Given the description of an element on the screen output the (x, y) to click on. 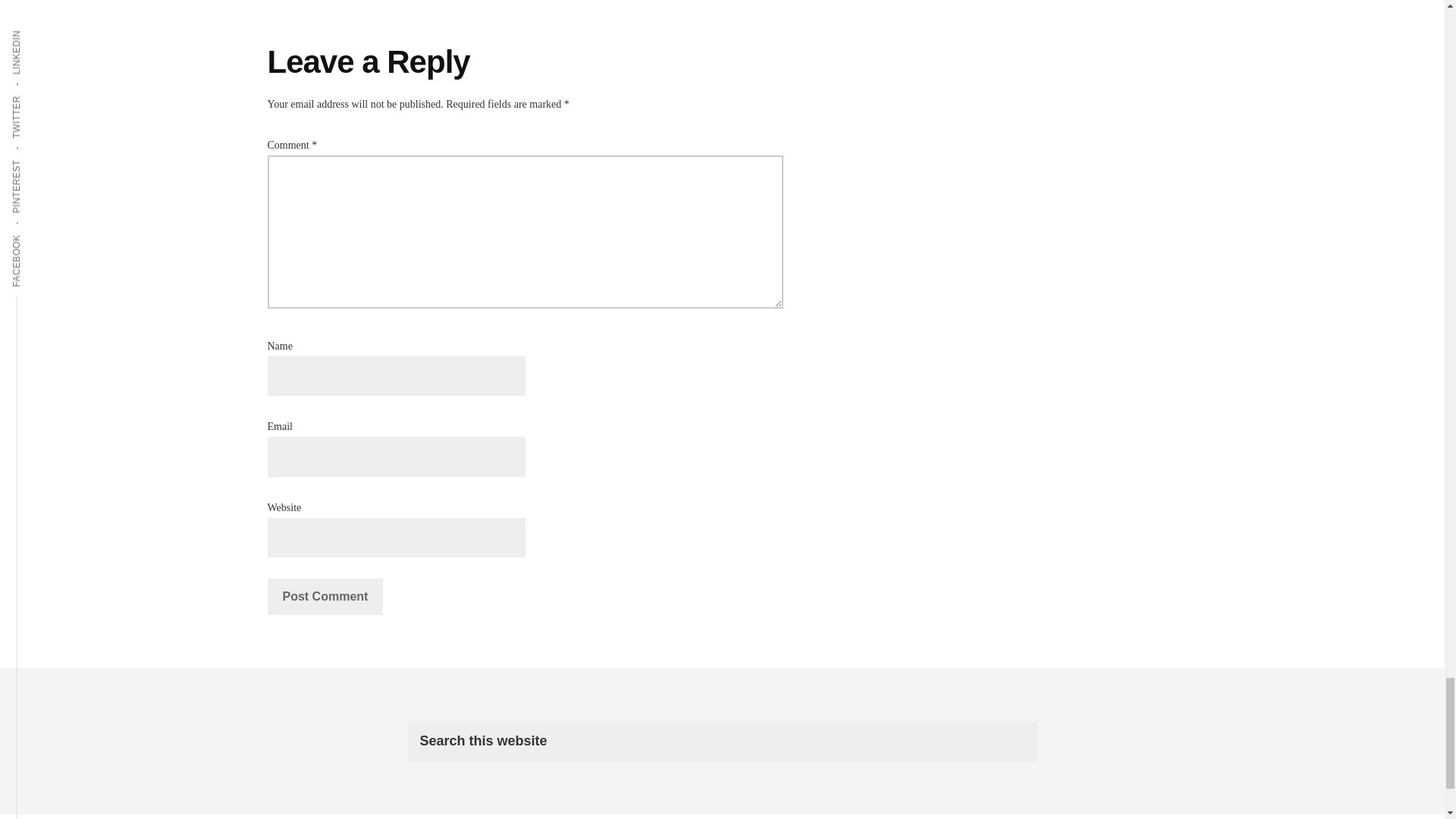
Post Comment (324, 596)
